Given the description of an element on the screen output the (x, y) to click on. 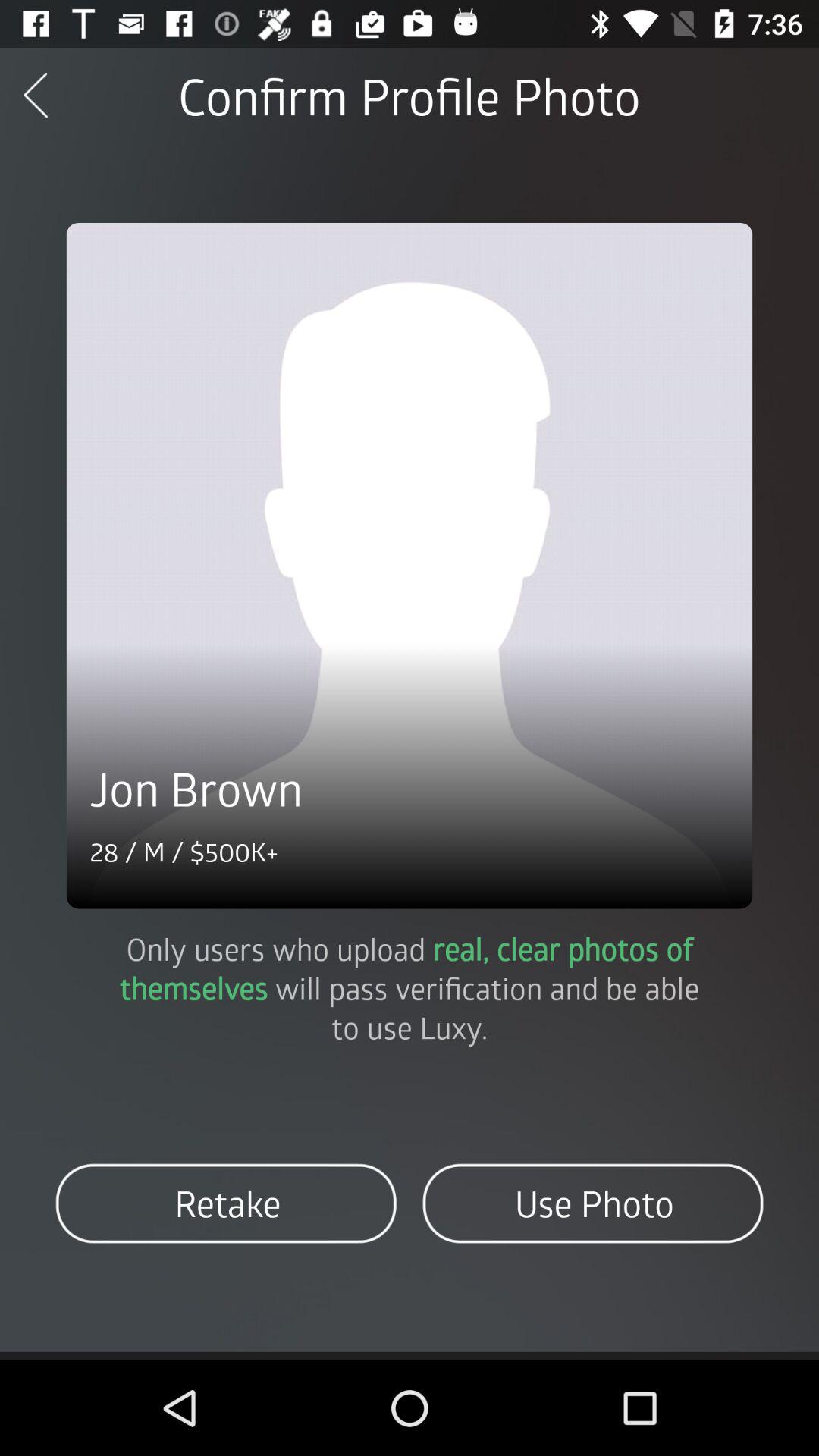
swipe until the only users who (409, 987)
